Given the description of an element on the screen output the (x, y) to click on. 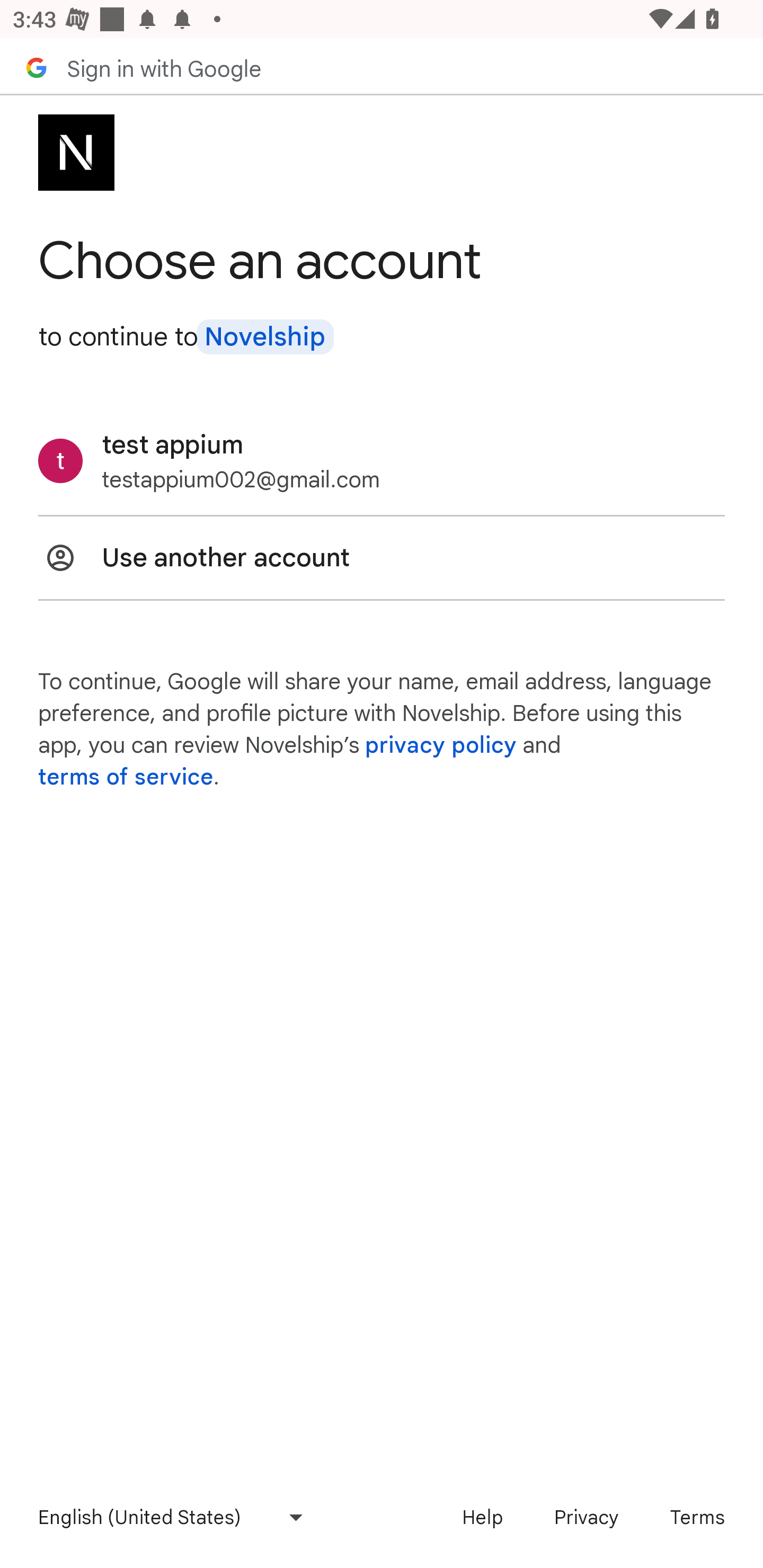
Novelship (264, 336)
Use another account (381, 556)
privacy policy (440, 744)
terms of service (126, 776)
Help (481, 1517)
Privacy (586, 1517)
Terms (696, 1517)
